Given the description of an element on the screen output the (x, y) to click on. 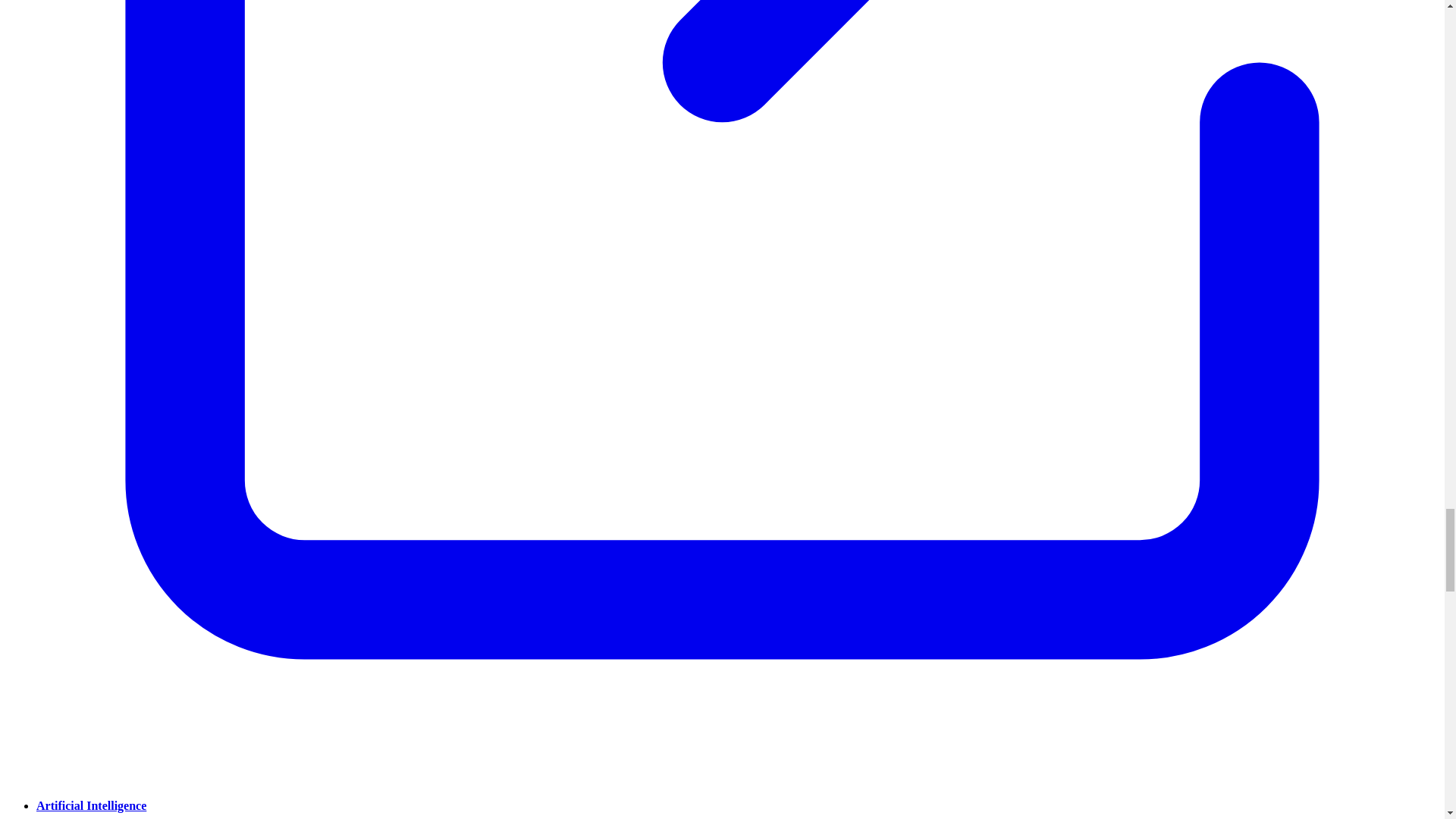
Artificial Intelligence (91, 805)
